Given the description of an element on the screen output the (x, y) to click on. 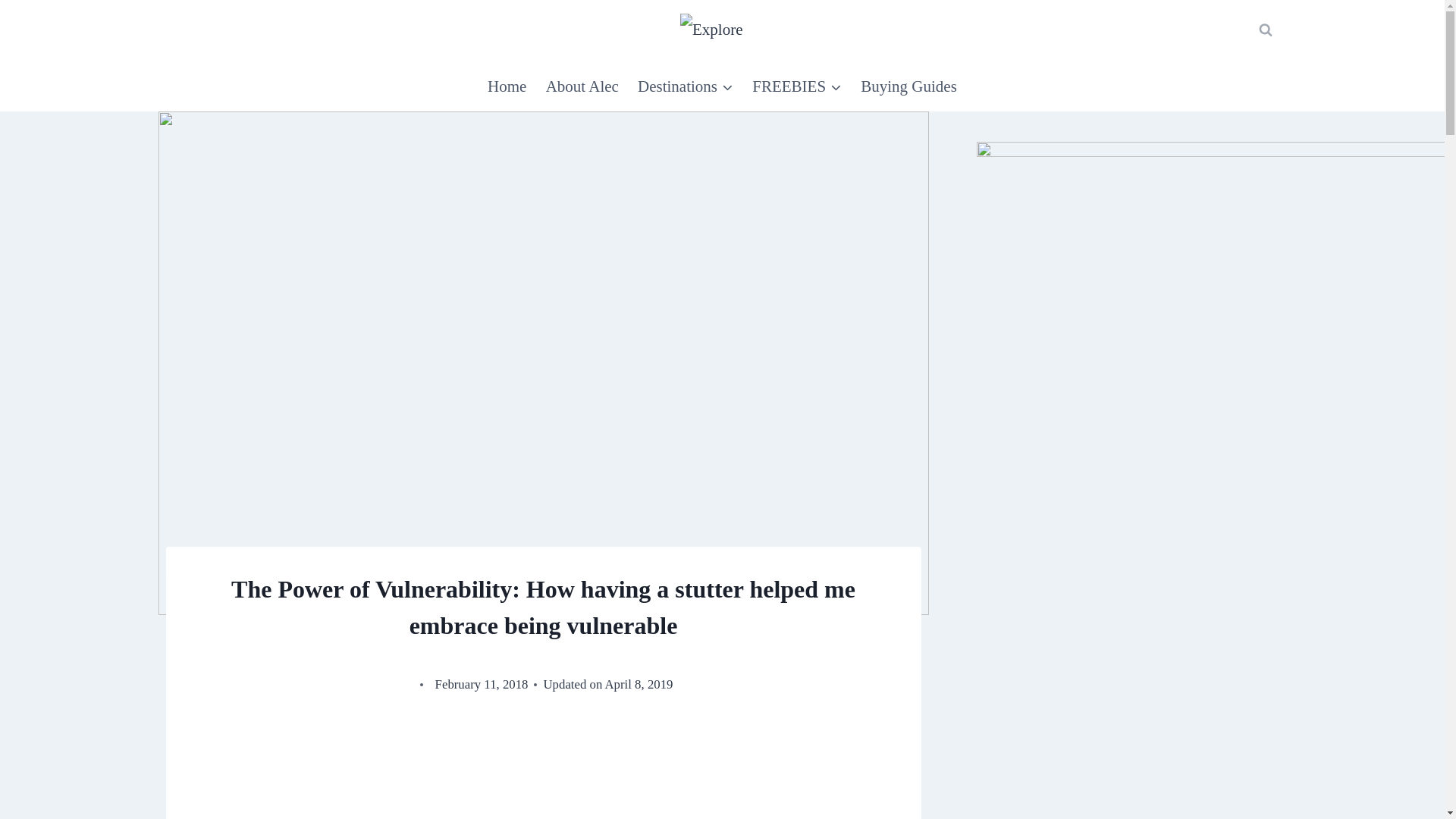
FREEBIES (796, 85)
Home (508, 85)
Buying Guides (908, 85)
About Alec (581, 85)
Destinations (684, 85)
